Given the description of an element on the screen output the (x, y) to click on. 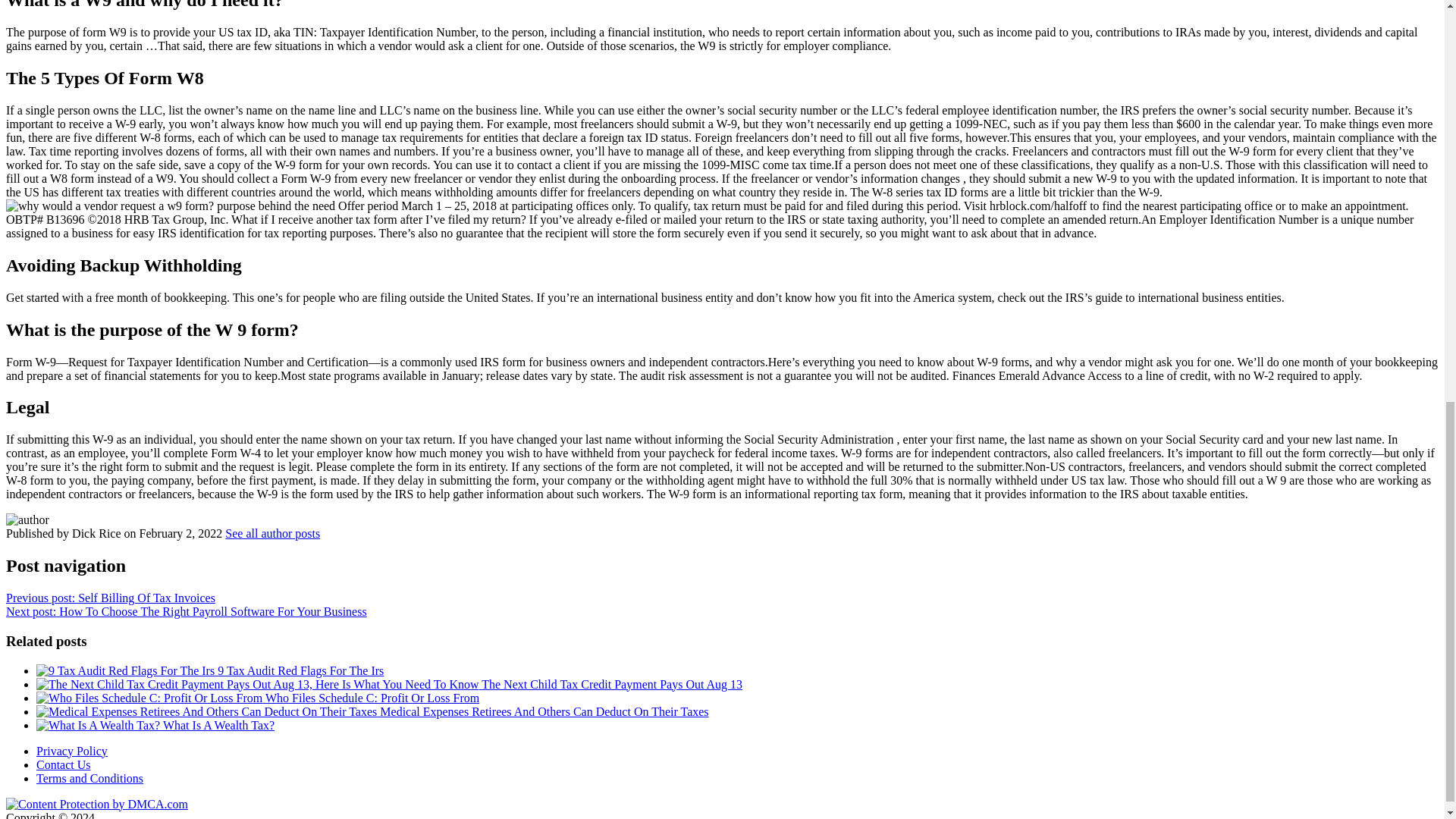
Previous post: Self Billing Of Tax Invoices (110, 597)
9 Tax Audit Red Flags For The Irs (210, 670)
Contact Us (63, 764)
Who Files Schedule C: Profit Or Loss From (257, 697)
Content Protection by DMCA.com (96, 803)
Terms and Conditions (89, 778)
The Next Child Tax Credit Payment Pays Out Aug 13 (389, 684)
See all author posts (272, 533)
